Given the description of an element on the screen output the (x, y) to click on. 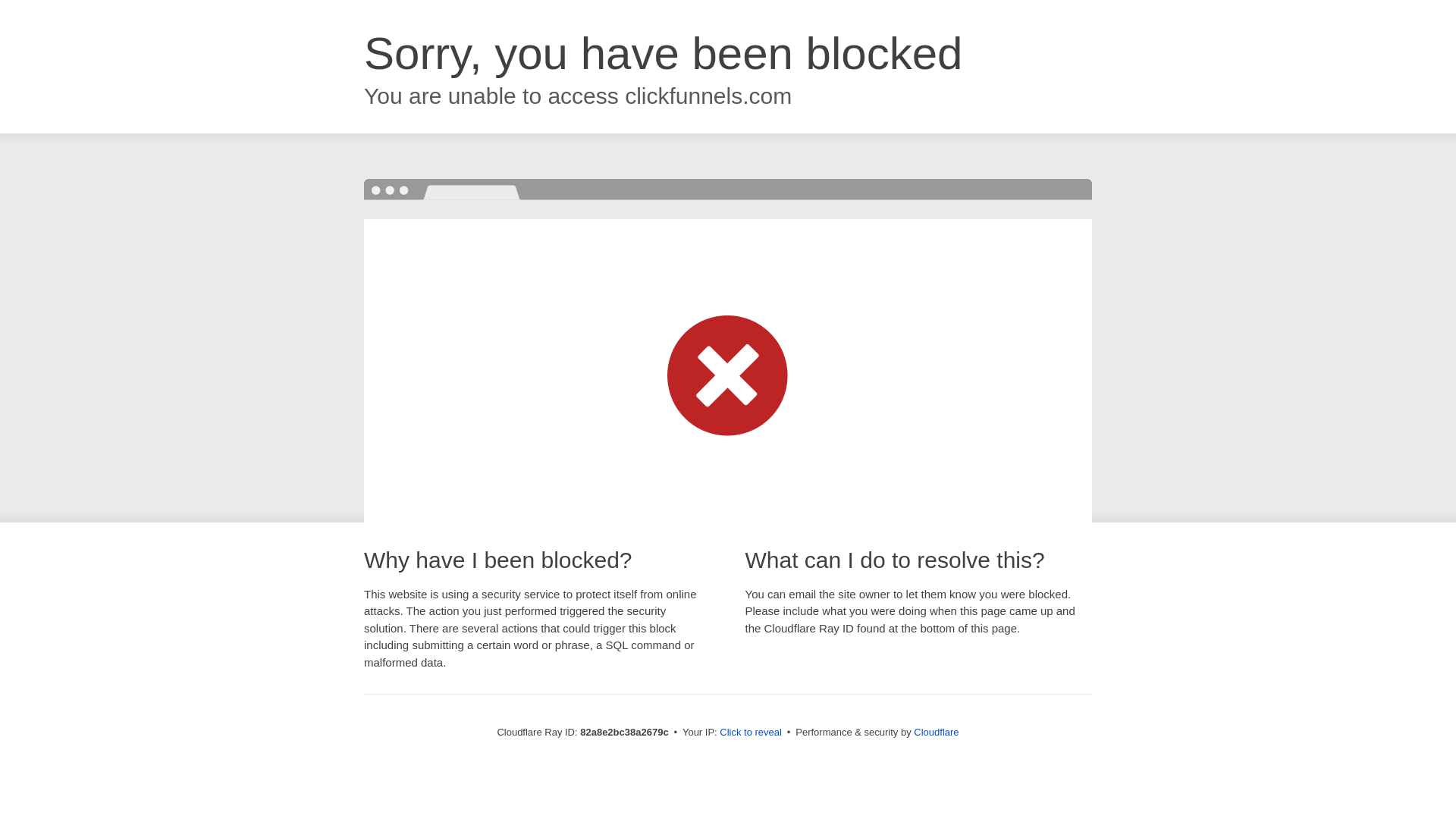
Click to reveal Element type: text (750, 732)
Cloudflare Element type: text (935, 731)
